Given the description of an element on the screen output the (x, y) to click on. 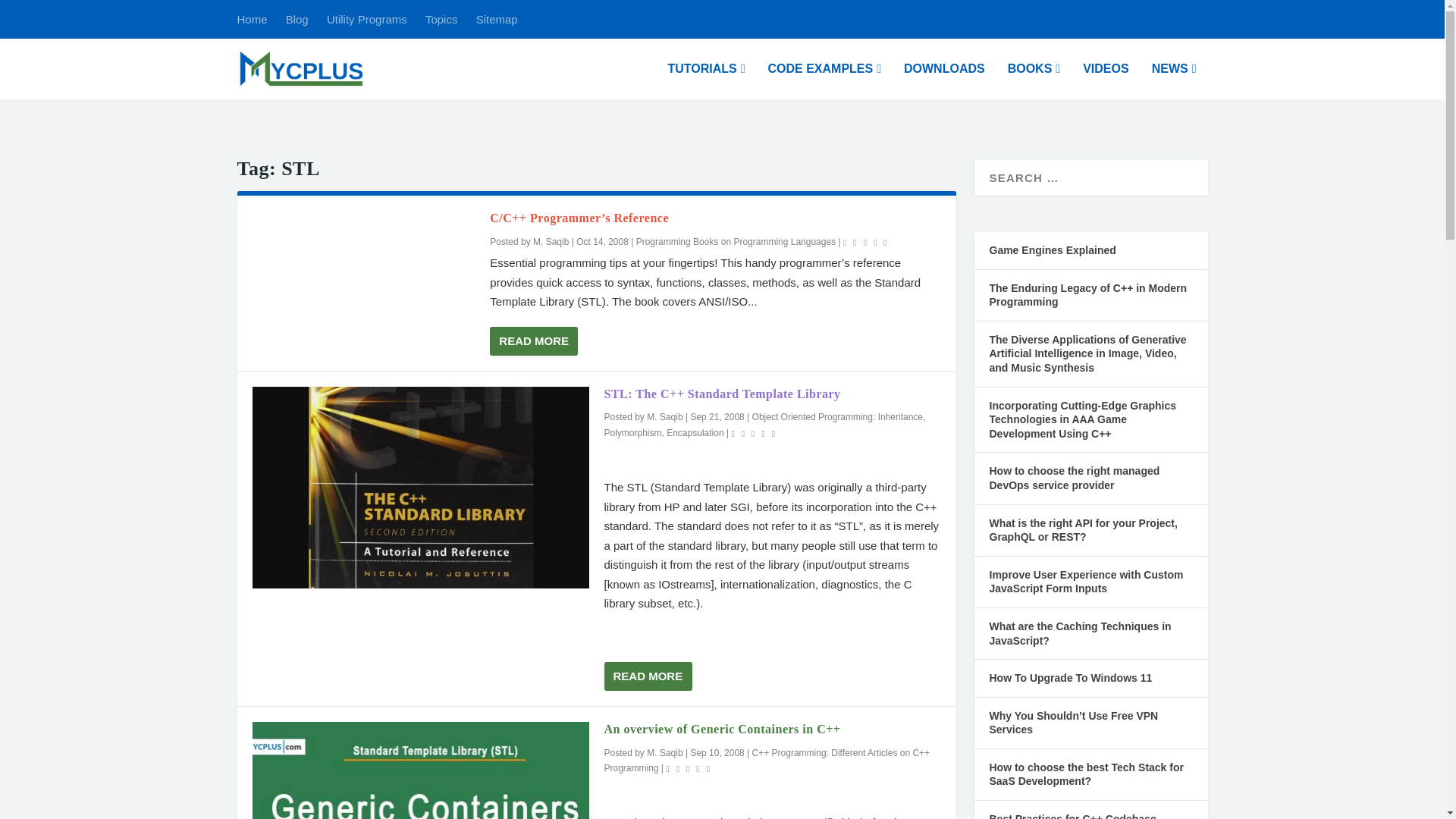
DOWNLOADS (944, 81)
TUTORIALS (705, 81)
BOOKS (1034, 81)
Rating: 0.00 (867, 241)
Sitemap (497, 19)
Posts by M. Saqib (550, 241)
NEWS (1173, 81)
CODE EXAMPLES (823, 81)
Posts by M. Saqib (664, 416)
Programming videos (1105, 81)
